Given the description of an element on the screen output the (x, y) to click on. 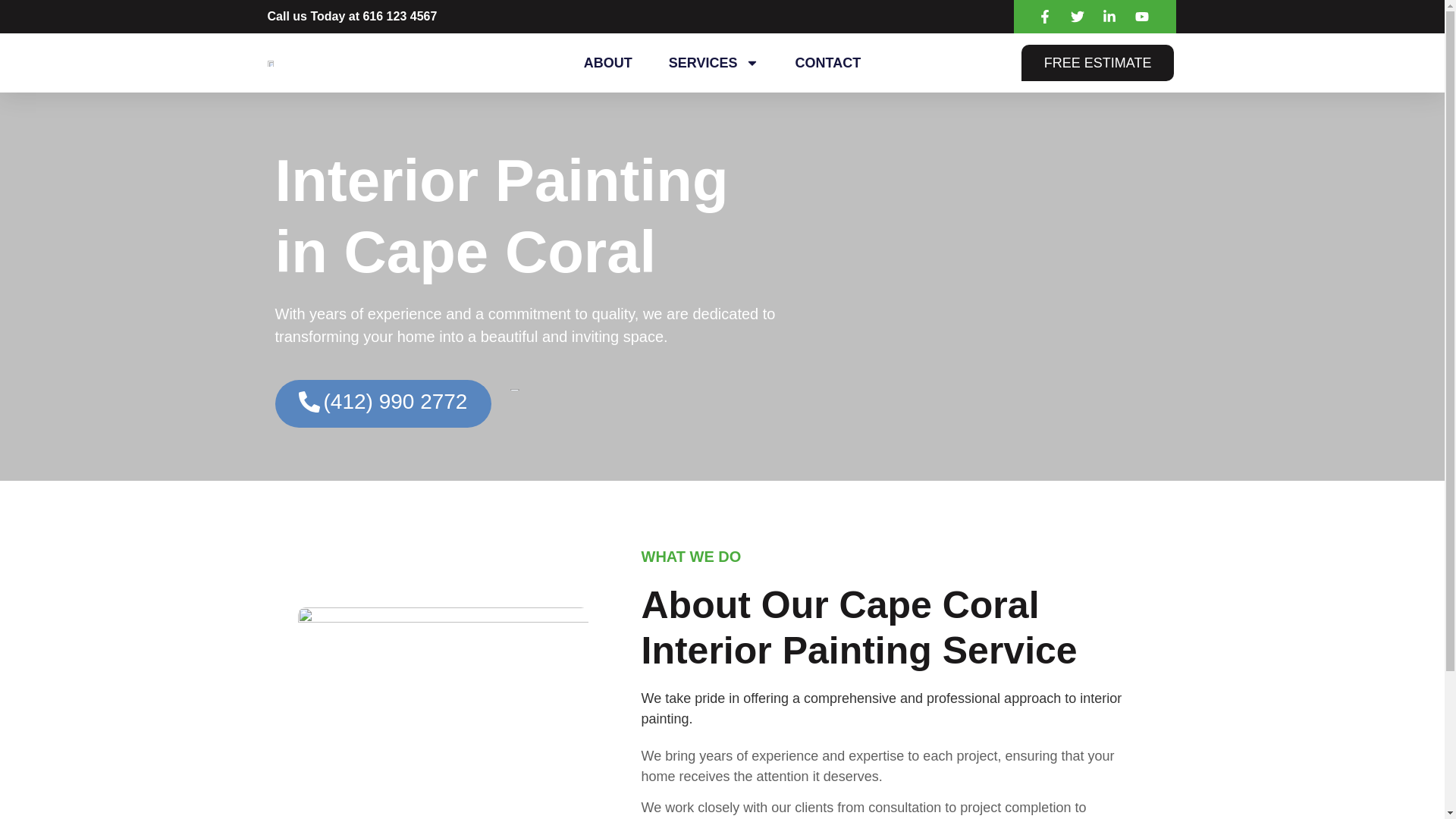
SERVICES (713, 62)
FREE ESTIMATE (1098, 63)
ABOUT (608, 62)
CONTACT (828, 62)
